Given the description of an element on the screen output the (x, y) to click on. 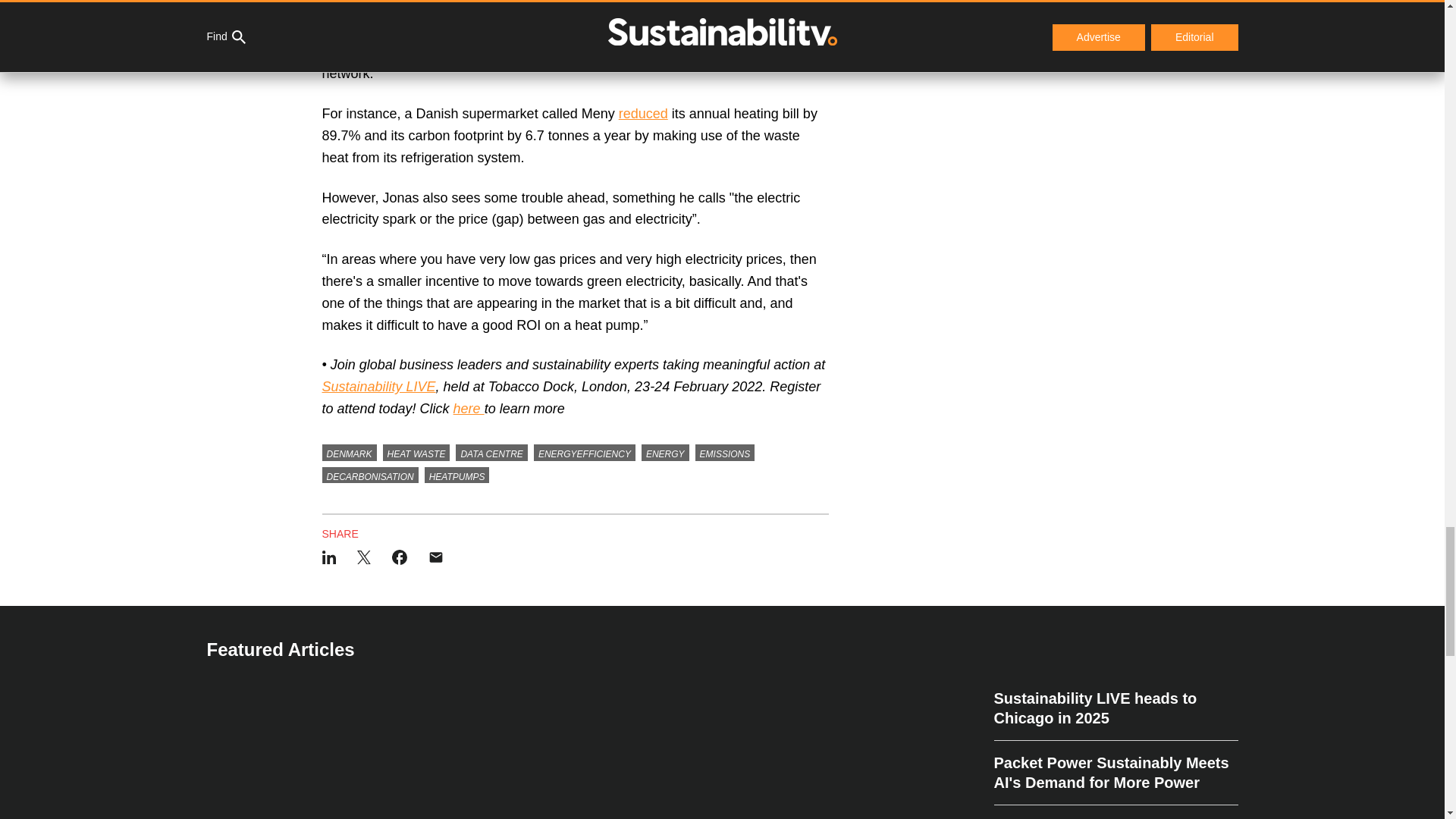
ENERGYEFFICIENCY (584, 452)
ENERGY (665, 452)
DATA CENTRE (491, 452)
Sustainability LIVE (378, 386)
here (468, 408)
EMISSIONS (725, 452)
HEATPUMPS (457, 475)
reduced (643, 113)
DECARBONISATION (369, 475)
HEAT WASTE (415, 452)
DENMARK (348, 452)
